Given the description of an element on the screen output the (x, y) to click on. 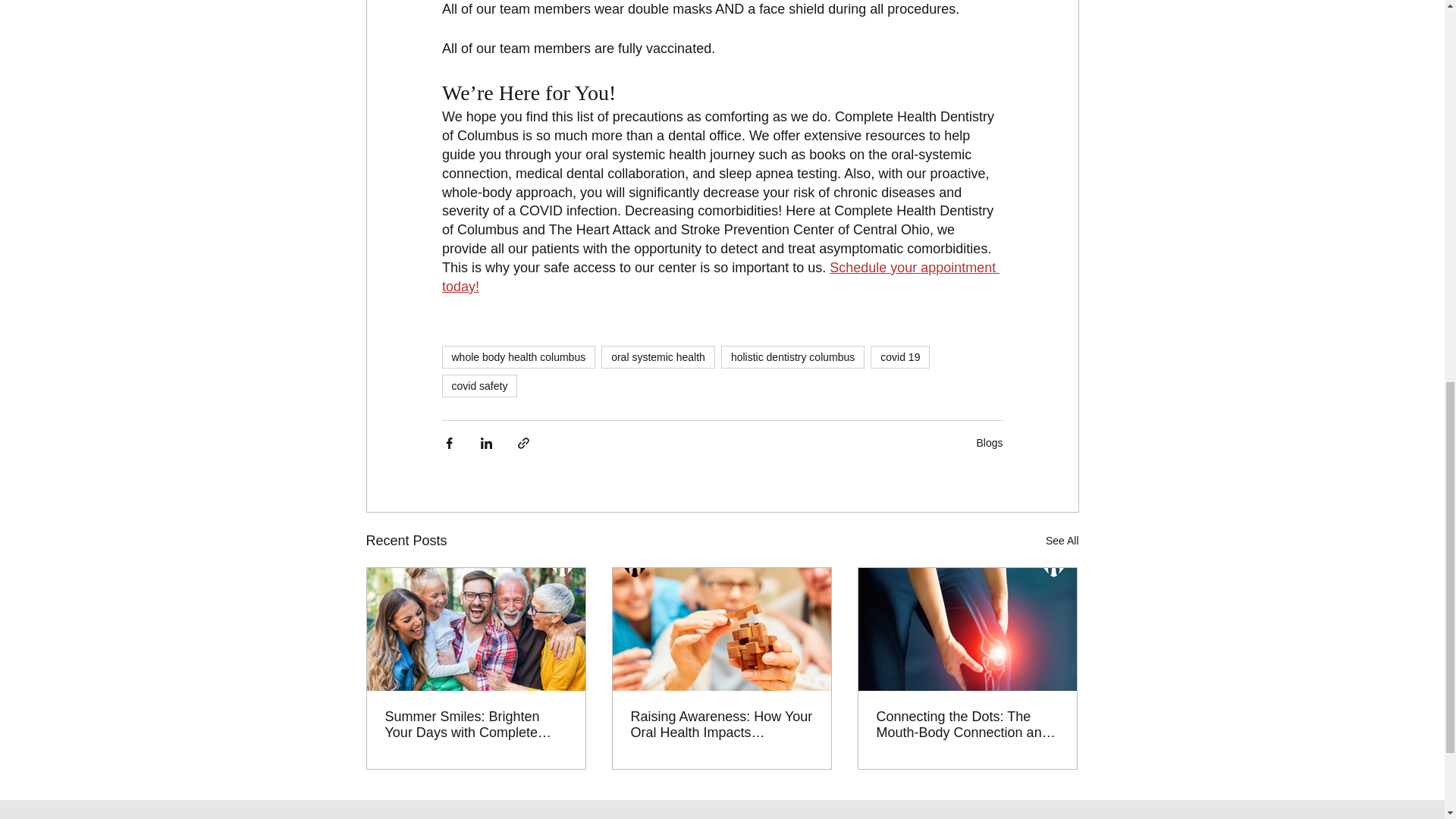
whole body health columbus (518, 356)
Schedule your appointment today! (719, 277)
holistic dentistry columbus (792, 356)
oral systemic health (657, 356)
